Given the description of an element on the screen output the (x, y) to click on. 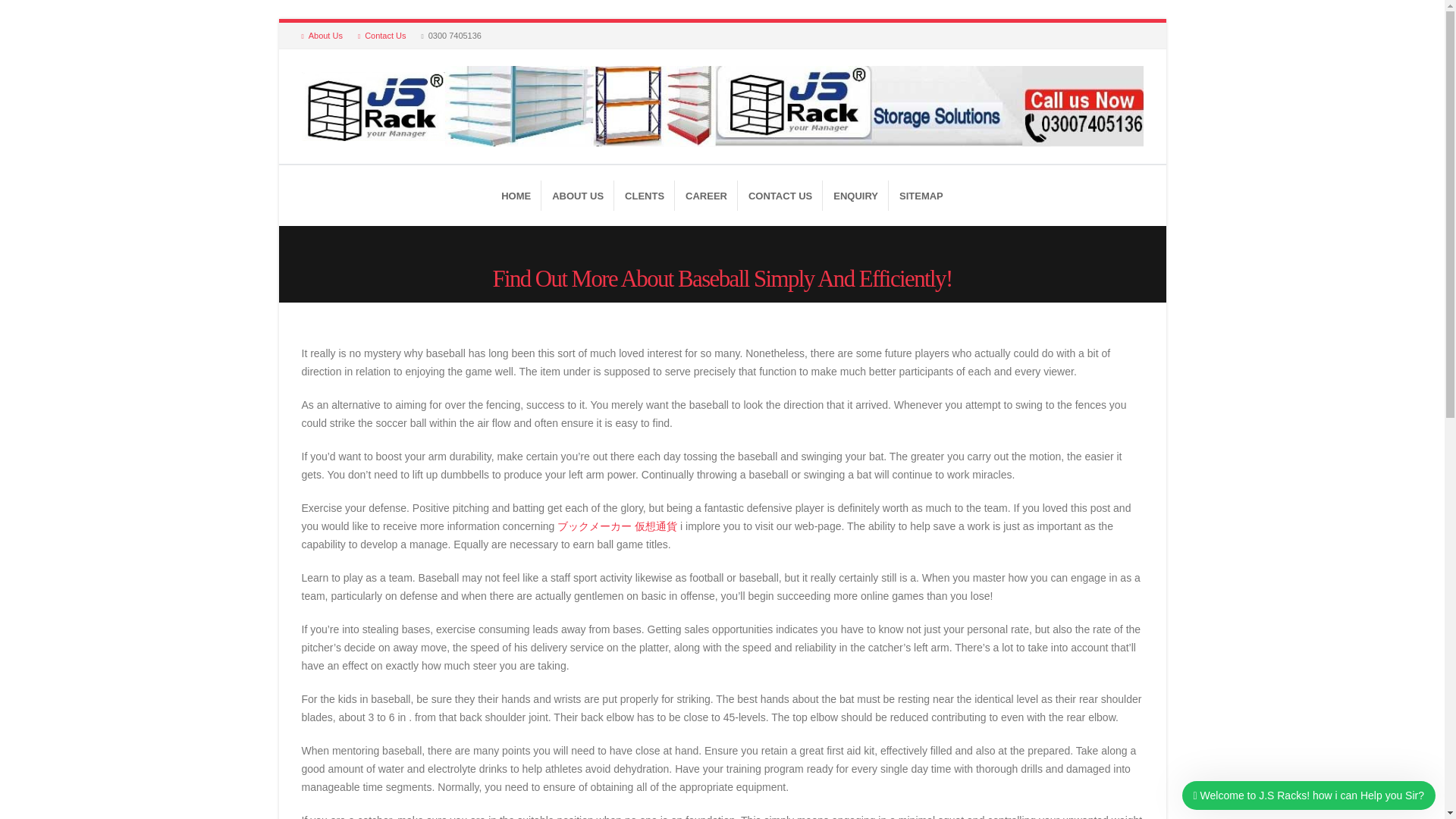
ABOUT US (577, 195)
Contact Us (381, 35)
CAREER (706, 195)
CLENTS (644, 195)
ENQUIRY (856, 195)
SITEMAP (921, 195)
HOME (516, 195)
About Us (325, 35)
CONTACT US (780, 195)
